Given the description of an element on the screen output the (x, y) to click on. 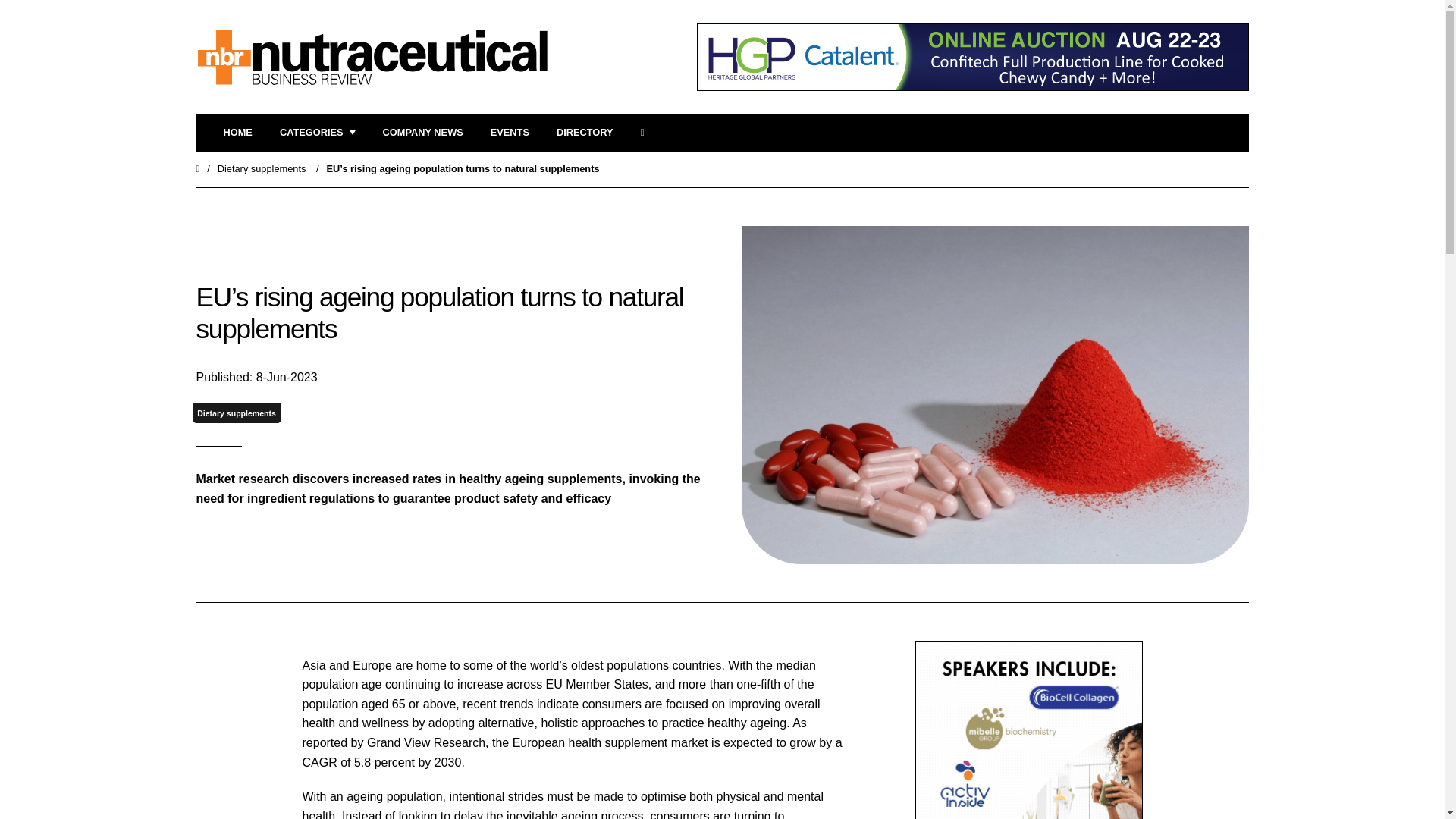
Dietary supplements (260, 168)
HOME (236, 133)
SEARCH (646, 133)
EVENTS (509, 133)
CATEGORIES (317, 133)
Directory (584, 133)
DIRECTORY (584, 133)
COMPANY NEWS (422, 133)
Dietary supplements (236, 413)
